Given the description of an element on the screen output the (x, y) to click on. 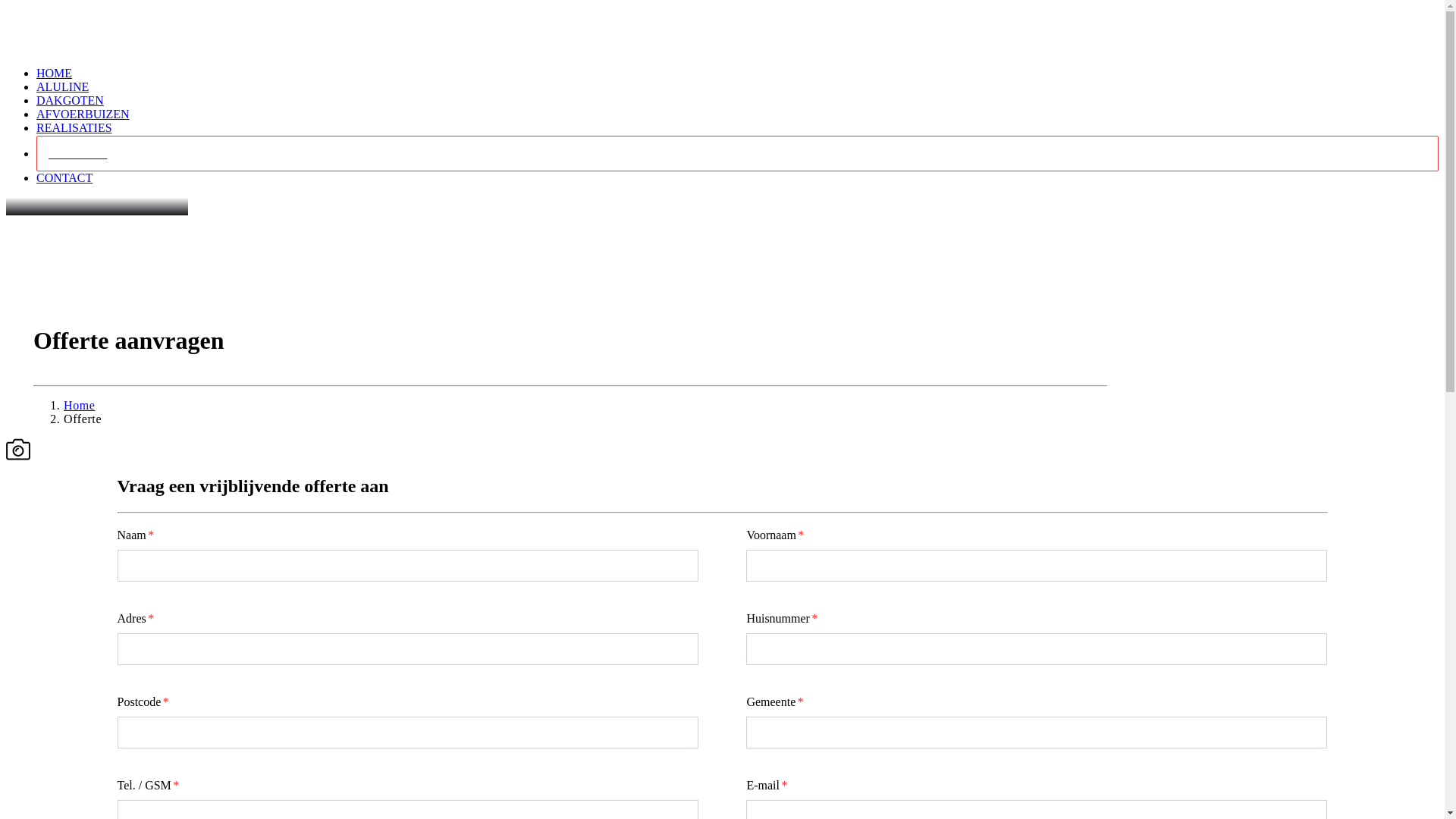
ALULINE Element type: text (62, 86)
DAKGOTEN Element type: text (69, 100)
AFVOERBUIZEN Element type: text (82, 113)
HOME Element type: text (54, 72)
CONTACT Element type: text (64, 177)
Home Element type: text (79, 404)
Previous Page Element type: text (22, 12)
Next Page Element type: text (29, 12)
OFFERTE Element type: text (737, 153)
REALISATIES Element type: text (74, 127)
Bekijk enkele van onze realisaties Element type: text (135, 444)
